Given the description of an element on the screen output the (x, y) to click on. 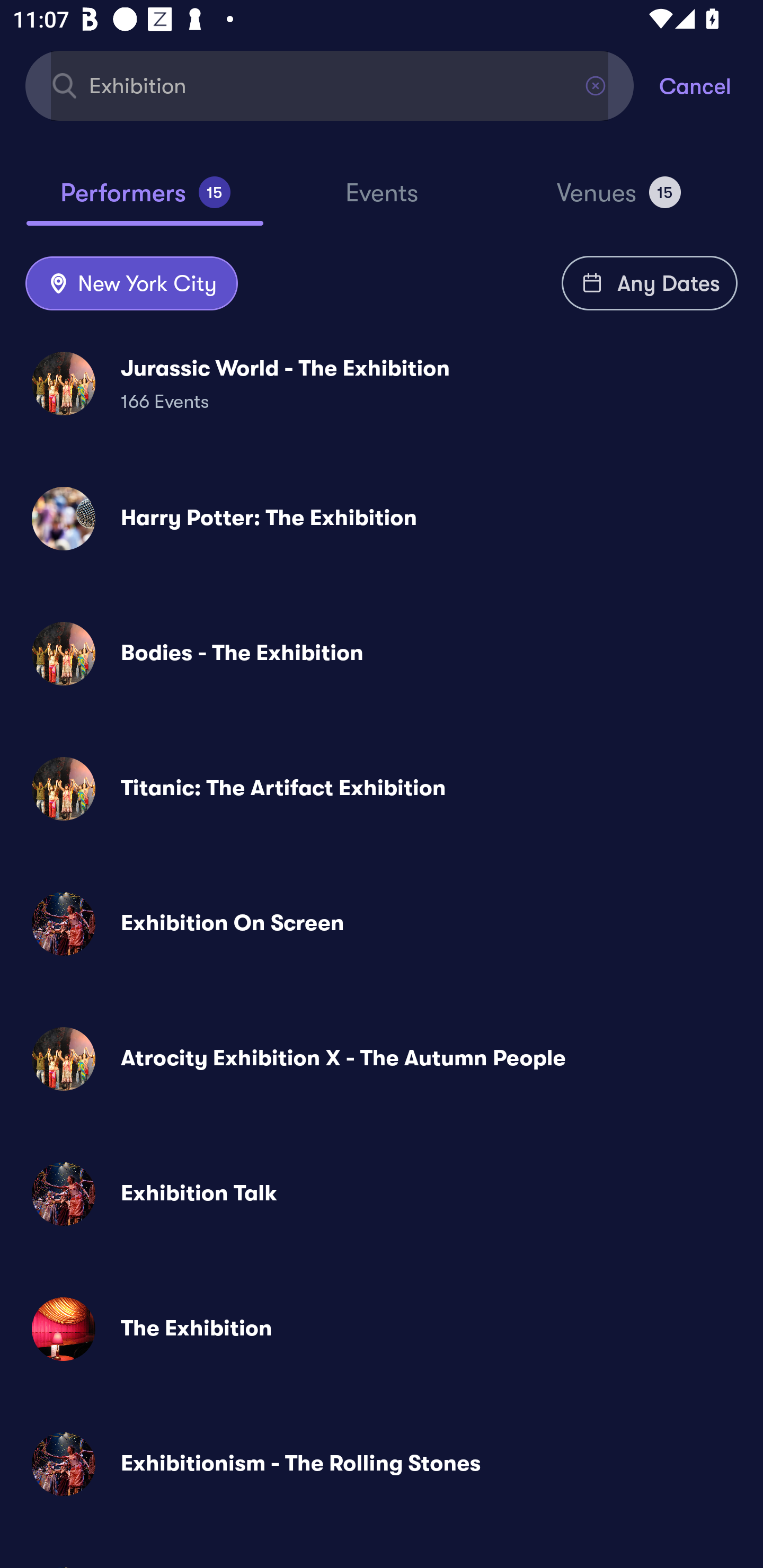
Exhibition Find (329, 85)
Exhibition Find (329, 85)
Cancel (711, 85)
Performers 15 (144, 200)
Venues 15 (618, 200)
Events (381, 201)
Any Dates (649, 282)
New York City (131, 283)
Jurassic World - The Exhibition 166 Events (381, 383)
Harry Potter: The Exhibition (381, 518)
Bodies - The Exhibition (381, 652)
Titanic: The Artifact Exhibition (381, 788)
Exhibition On Screen (381, 924)
Atrocity Exhibition X - The Autumn People (381, 1059)
Exhibition Talk (381, 1193)
The Exhibition (381, 1328)
Exhibitionism - The Rolling Stones (381, 1463)
